Given the description of an element on the screen output the (x, y) to click on. 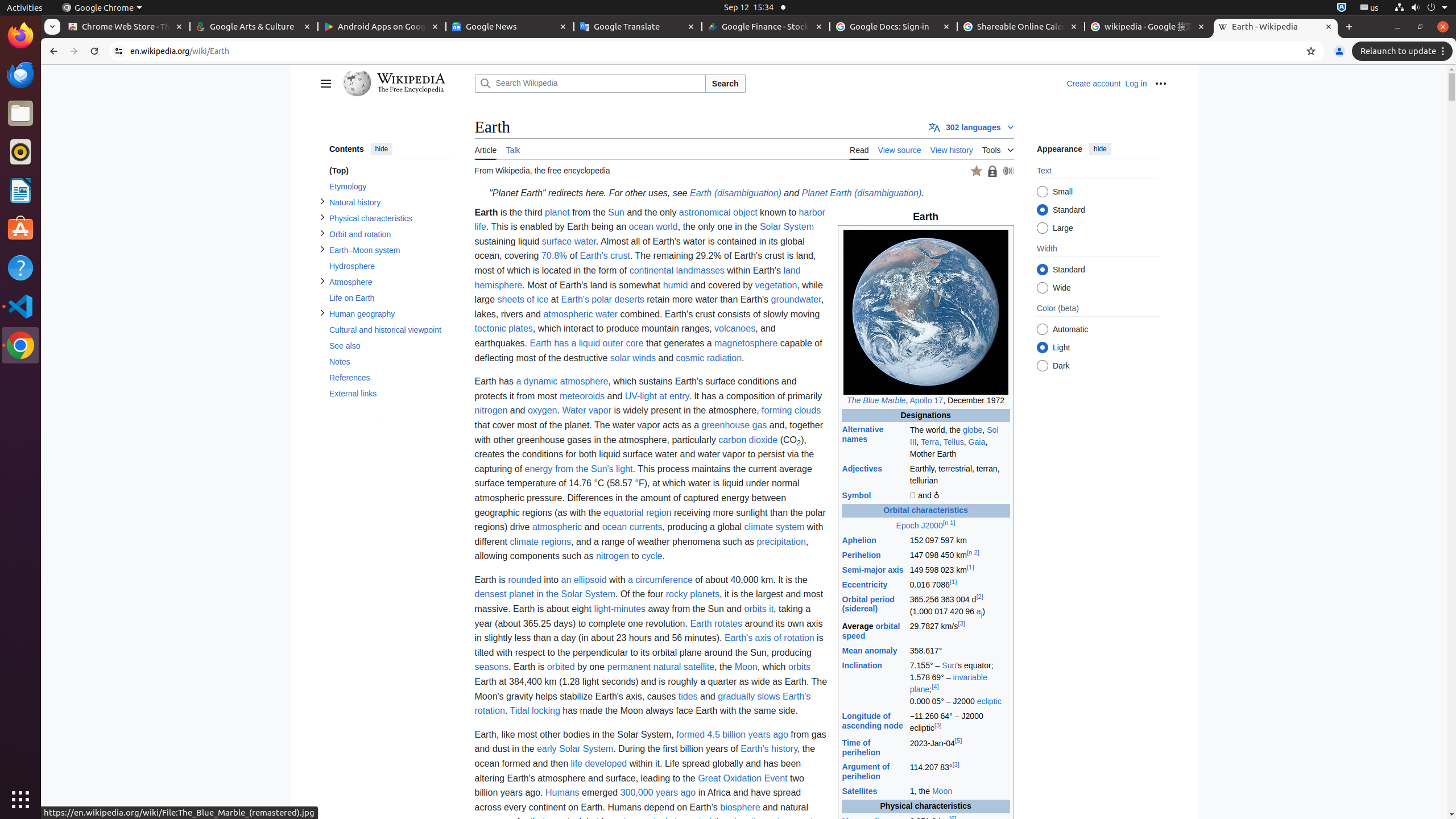
Android Apps on Google Play - Memory usage - 103 MB Element type: page-tab (381, 26)
147098450 km[n 2] Element type: table-cell (959, 554)
continental Element type: link (651, 270)
7.155° – Sun's equator; 1.57869° – invariable plane;[4] 0.00005° – J2000 ecliptic Element type: table-cell (959, 683)
a dynamic atmosphere Element type: link (561, 381)
